Given the description of an element on the screen output the (x, y) to click on. 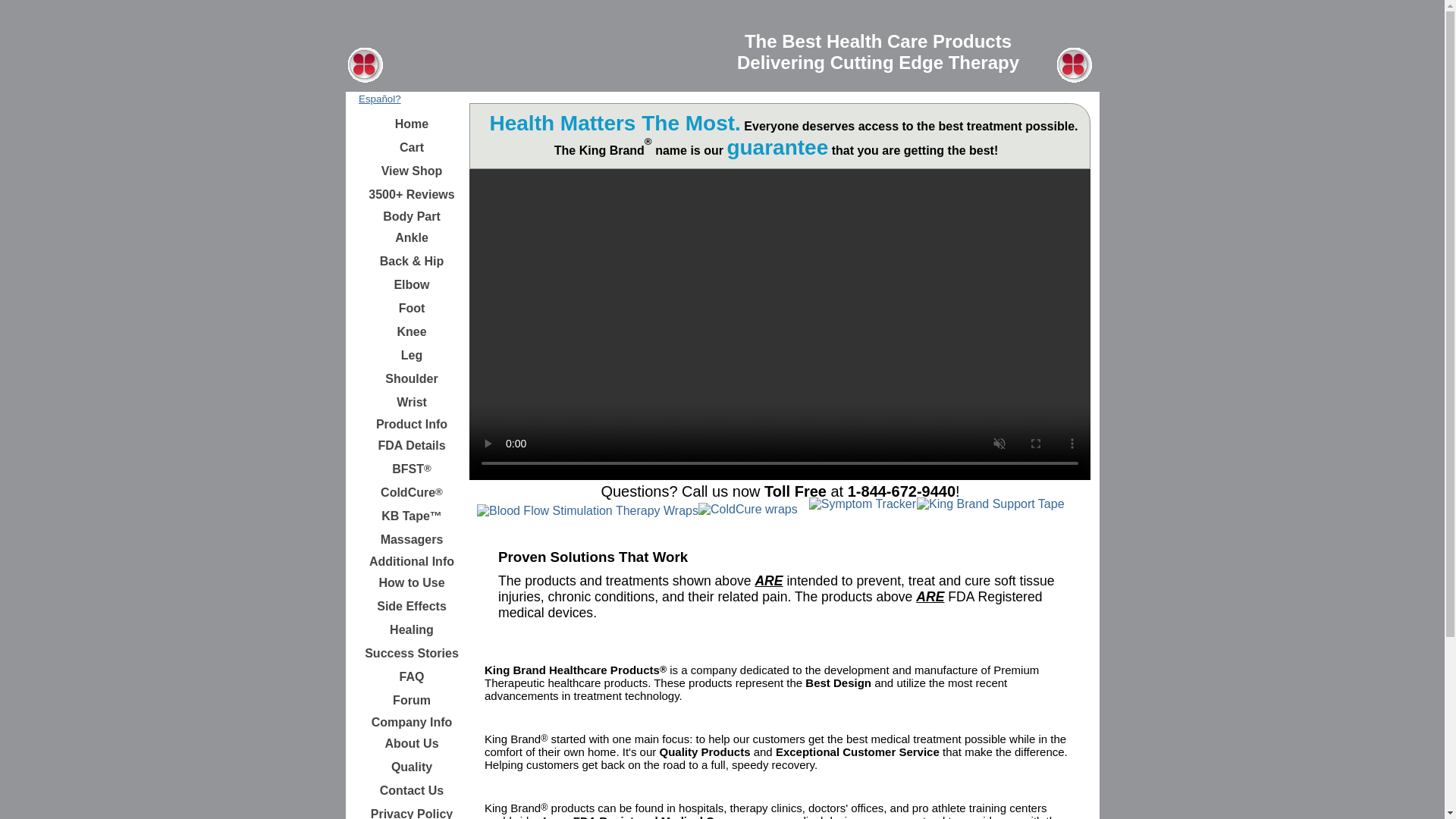
Ankle (411, 237)
Leg (411, 354)
Side Effects (411, 606)
Cart (411, 147)
Massagers (411, 539)
Contact Us (411, 790)
Privacy Policy (411, 811)
Success Stories (411, 653)
Forum (411, 700)
Knee (411, 332)
Healing (411, 630)
Home (411, 124)
FAQ (411, 676)
FDA Details (411, 445)
View Shop (411, 170)
